Given the description of an element on the screen output the (x, y) to click on. 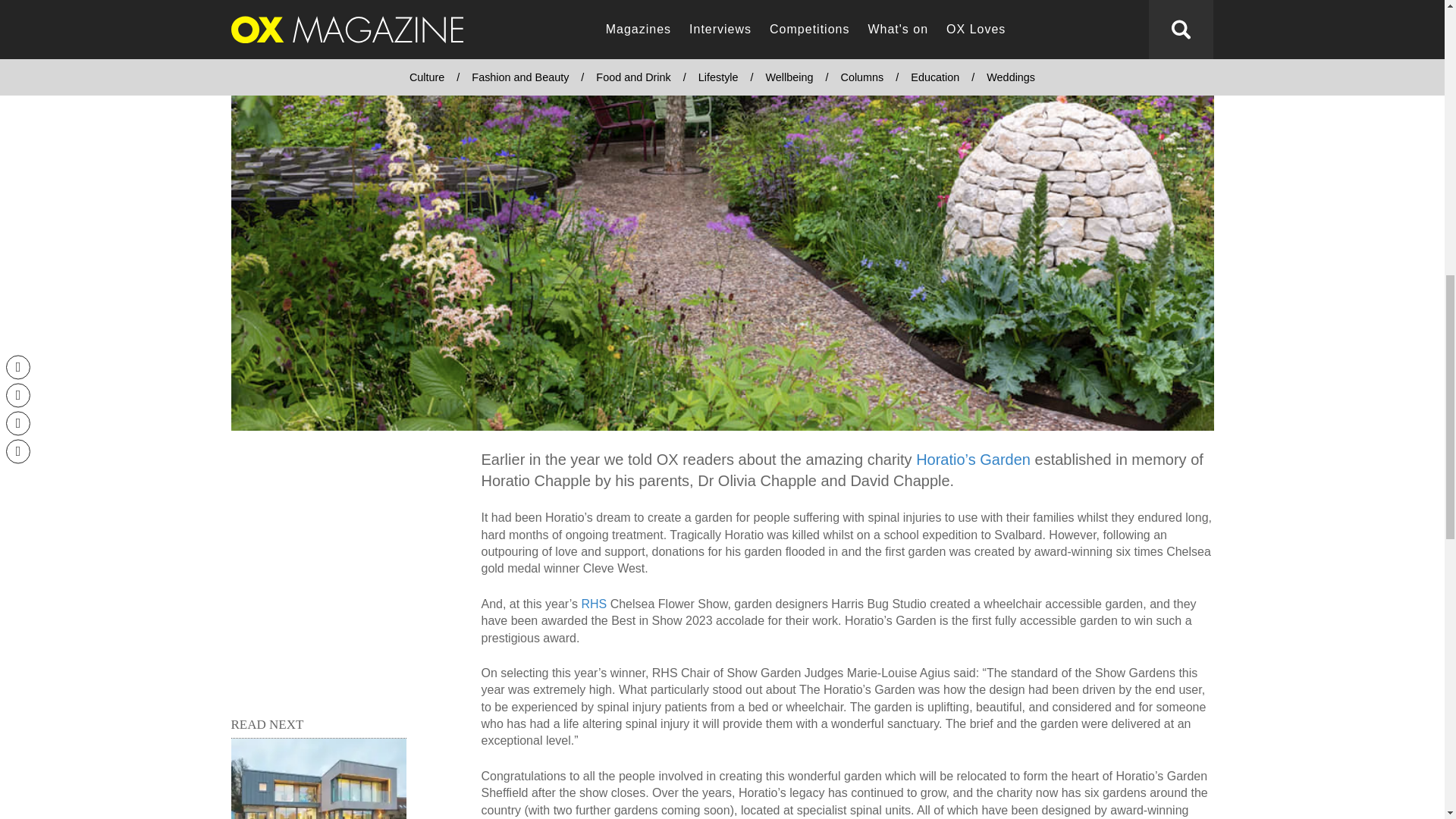
Build It Live 2023 (318, 778)
